Given the description of an element on the screen output the (x, y) to click on. 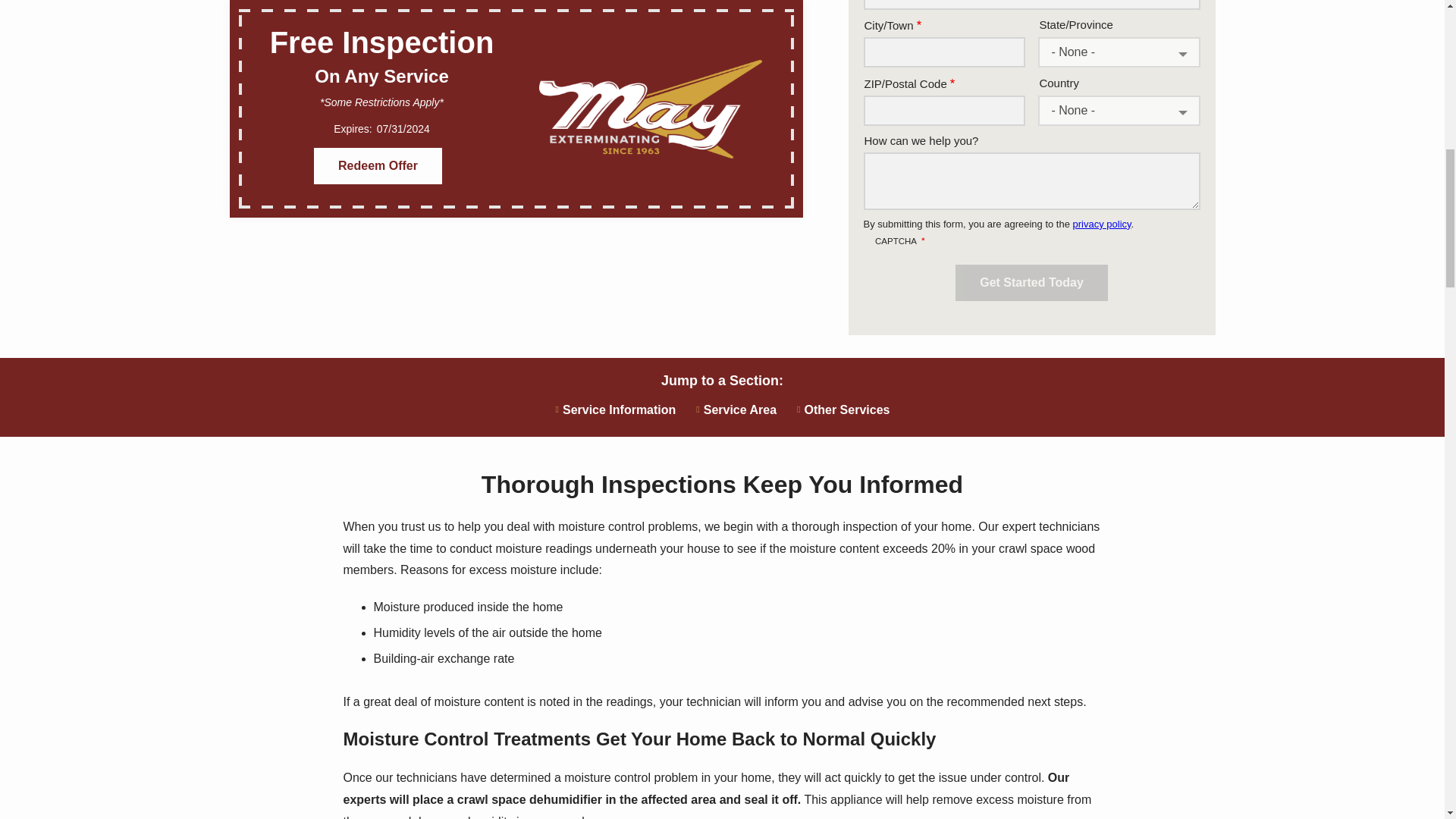
Get Started Today (1031, 282)
